Given the description of an element on the screen output the (x, y) to click on. 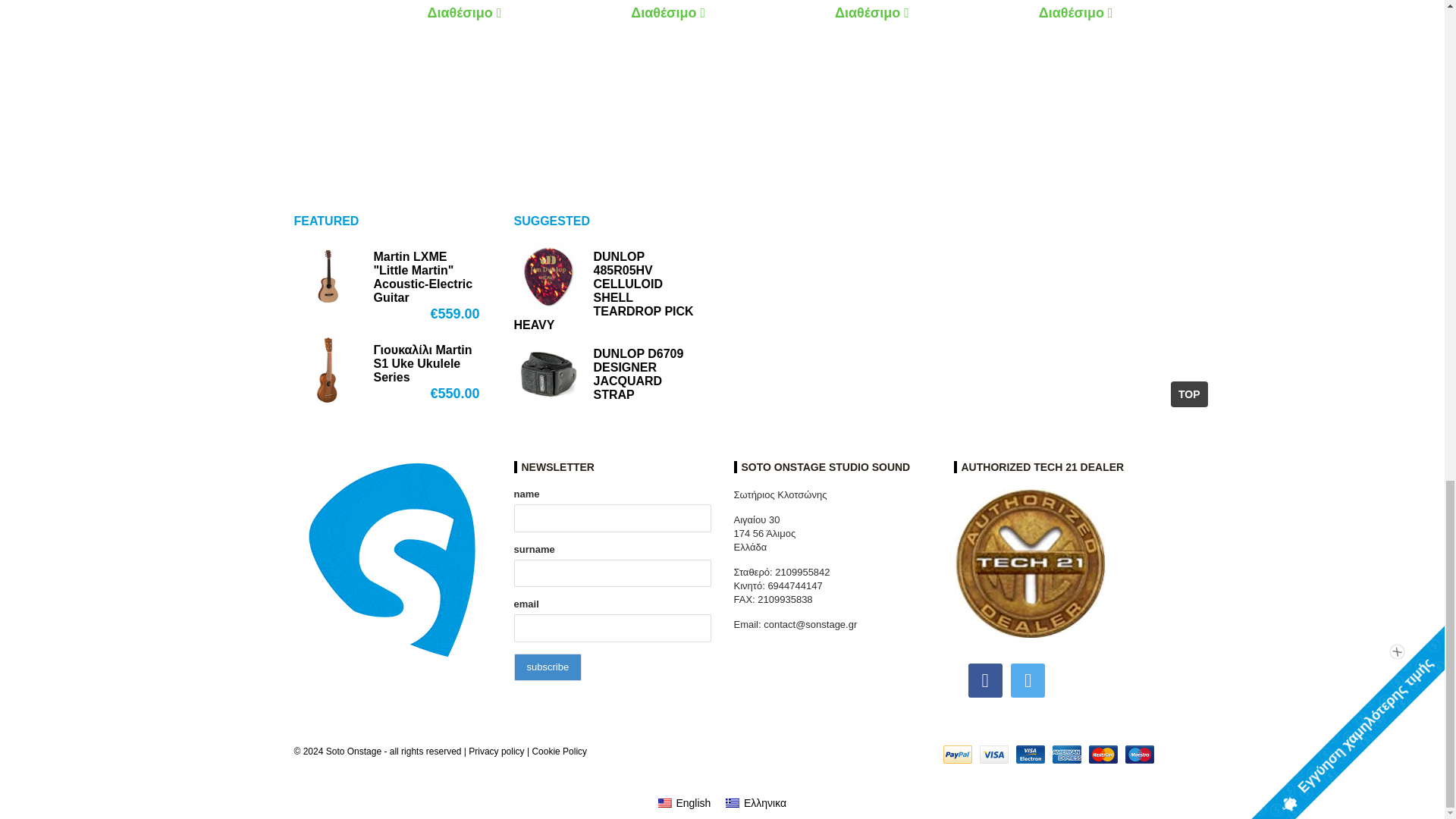
subscribe (547, 667)
DUNLOP D6709 DESIGNER JACQUARD STRAP (608, 374)
DUNLOP 485R05HV CELLULOID SHELL TEARDROP PICK HEAVY (608, 291)
